Given the description of an element on the screen output the (x, y) to click on. 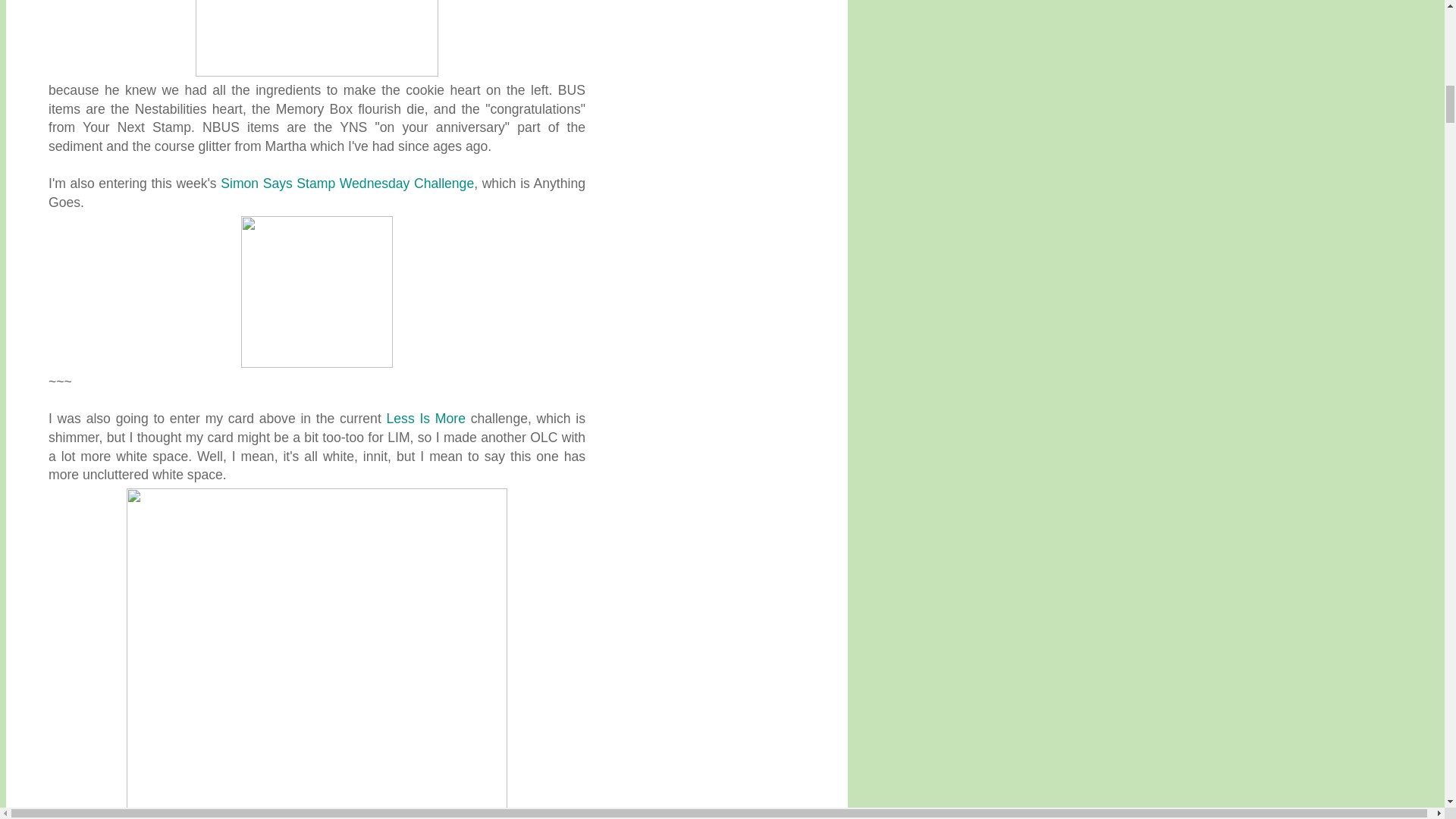
Simon Says Stamp Wednesday Challenge (347, 183)
Less Is More (426, 418)
